Given the description of an element on the screen output the (x, y) to click on. 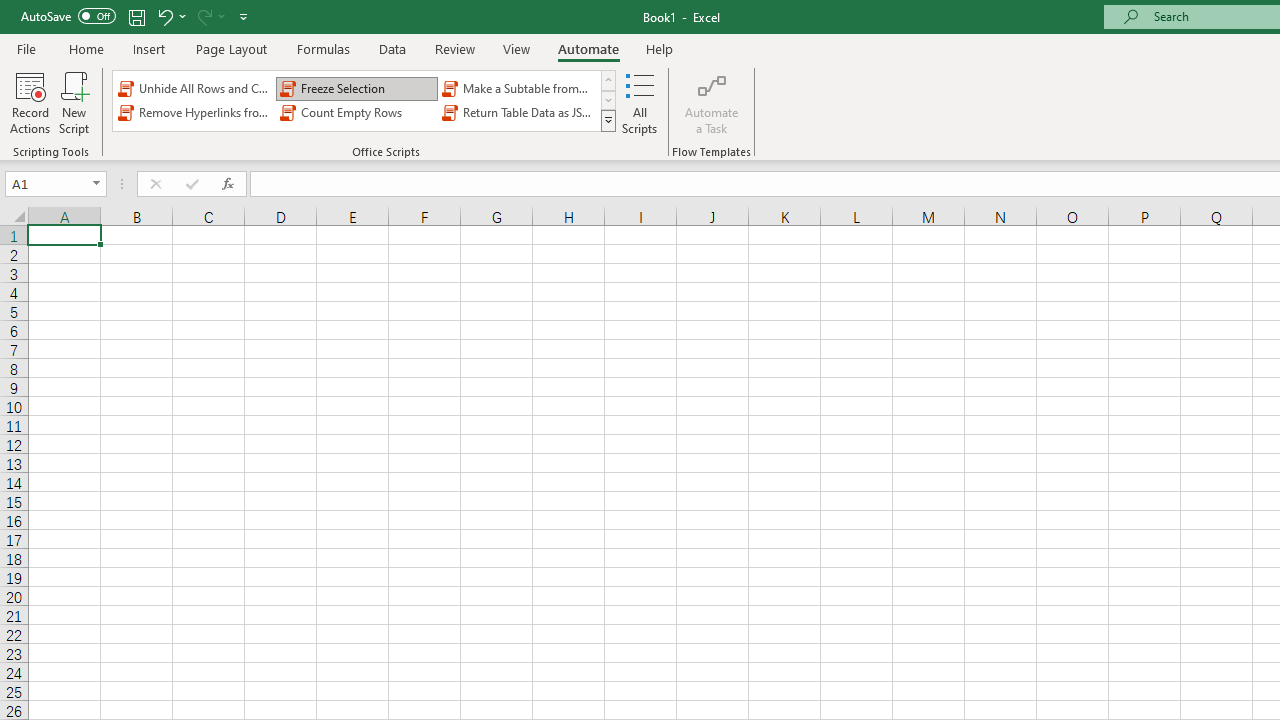
File Tab (26, 48)
Save (136, 15)
Customize Quick Access Toolbar (244, 15)
Count Empty Rows (356, 112)
All Scripts (639, 102)
Row Down (608, 100)
Record Actions (29, 102)
Quick Access Toolbar (136, 16)
Remove Hyperlinks from Sheet (194, 112)
Class: NetUIImage (609, 120)
